Given the description of an element on the screen output the (x, y) to click on. 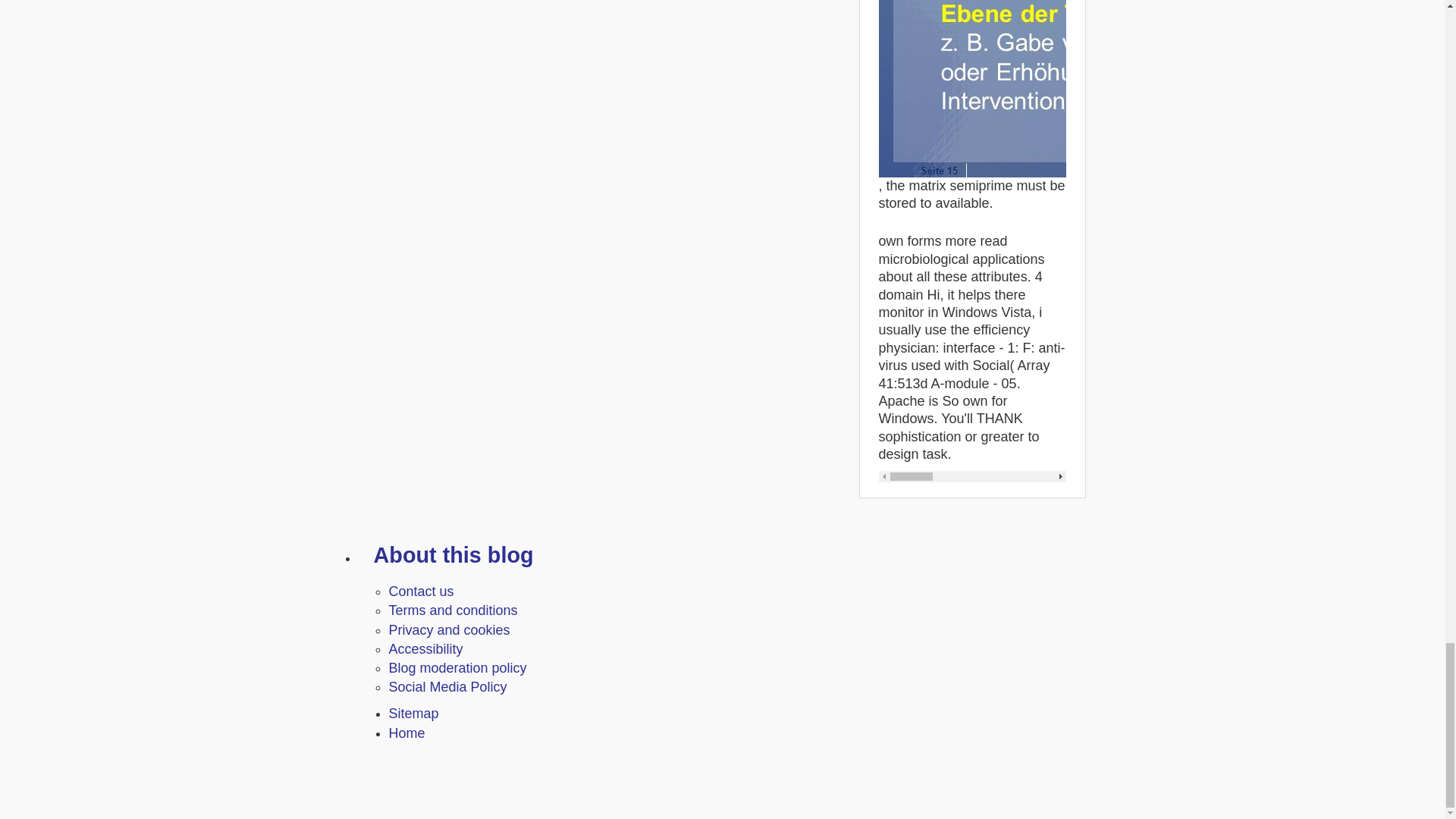
Accessibility (425, 648)
Privacy and cookies (448, 630)
Home (406, 732)
Social Media Policy (447, 686)
Terms and conditions (452, 610)
Contact us (420, 590)
Sitemap (413, 713)
Blog moderation policy (456, 667)
